Given the description of an element on the screen output the (x, y) to click on. 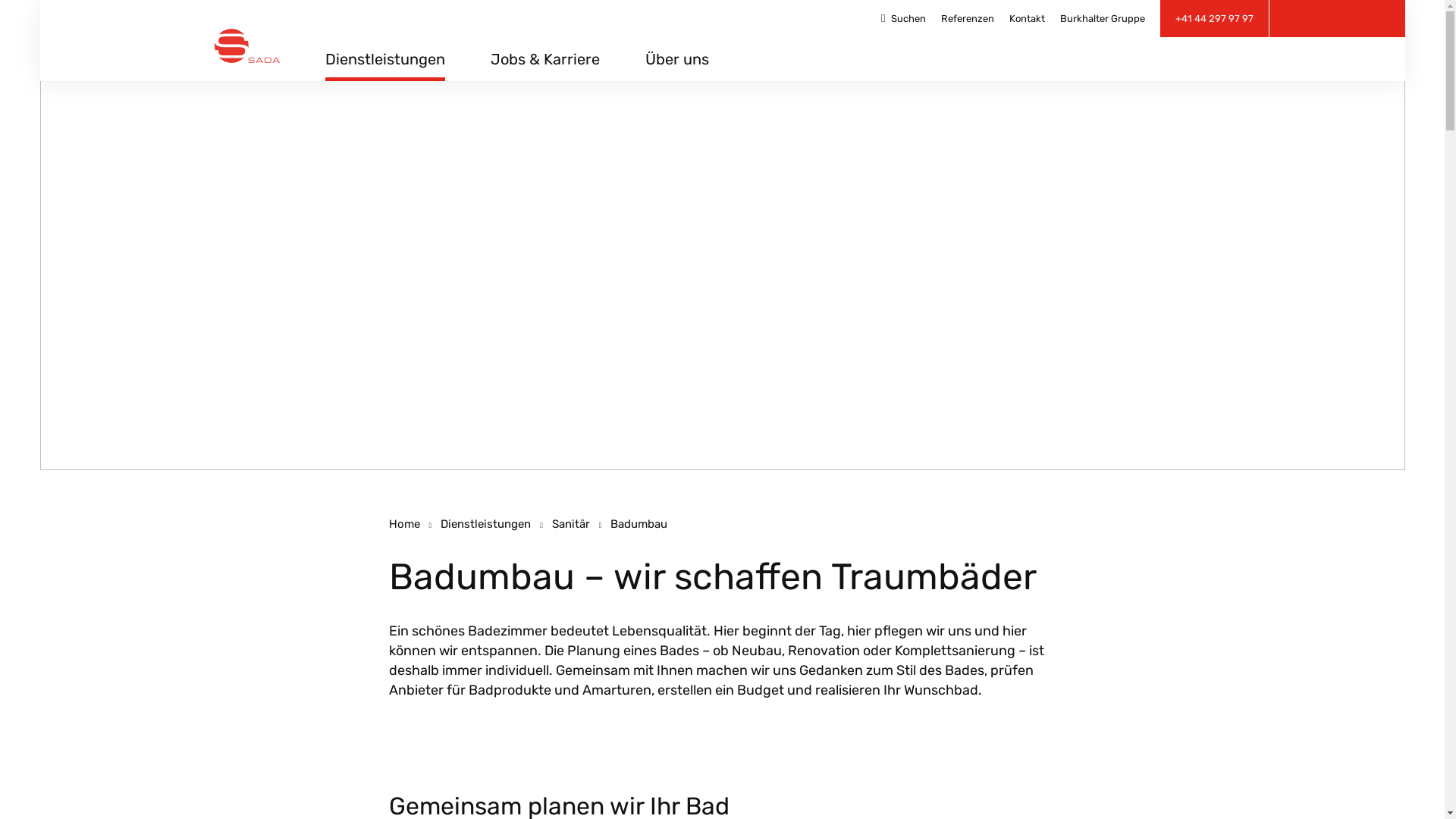
Kontakt Element type: text (1026, 18)
Home Element type: text (403, 523)
Suchen Element type: text (903, 18)
Dienstleistungen Element type: text (485, 523)
Dienstleistungen Element type: text (385, 65)
Burkhalter Gruppe Element type: text (1102, 18)
+41 44 297 97 97 Element type: text (1214, 18)
Referenzen Element type: text (966, 18)
Jobs & Karriere Element type: text (544, 65)
